Given the description of an element on the screen output the (x, y) to click on. 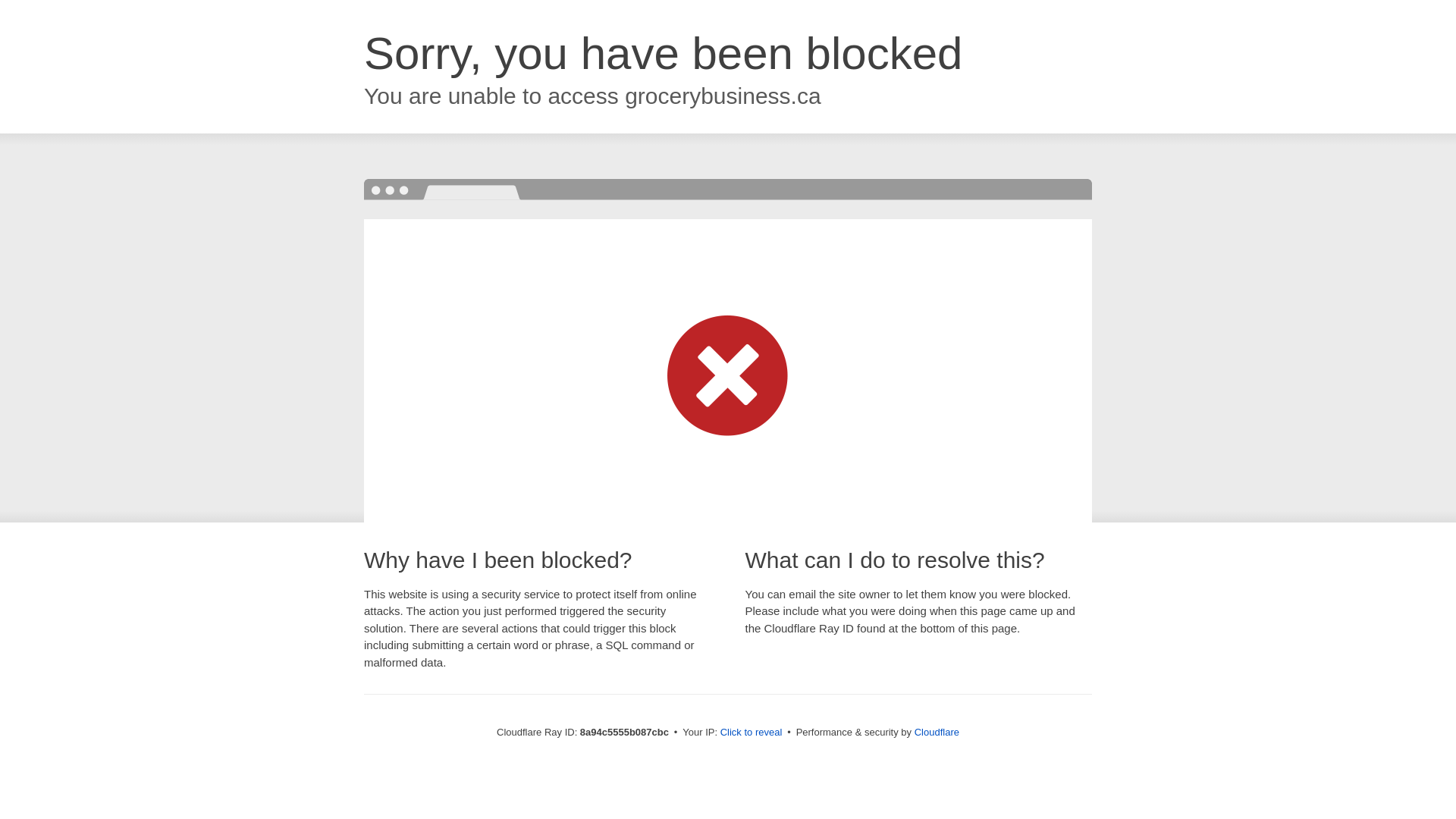
Cloudflare (936, 731)
Click to reveal (751, 732)
